Given the description of an element on the screen output the (x, y) to click on. 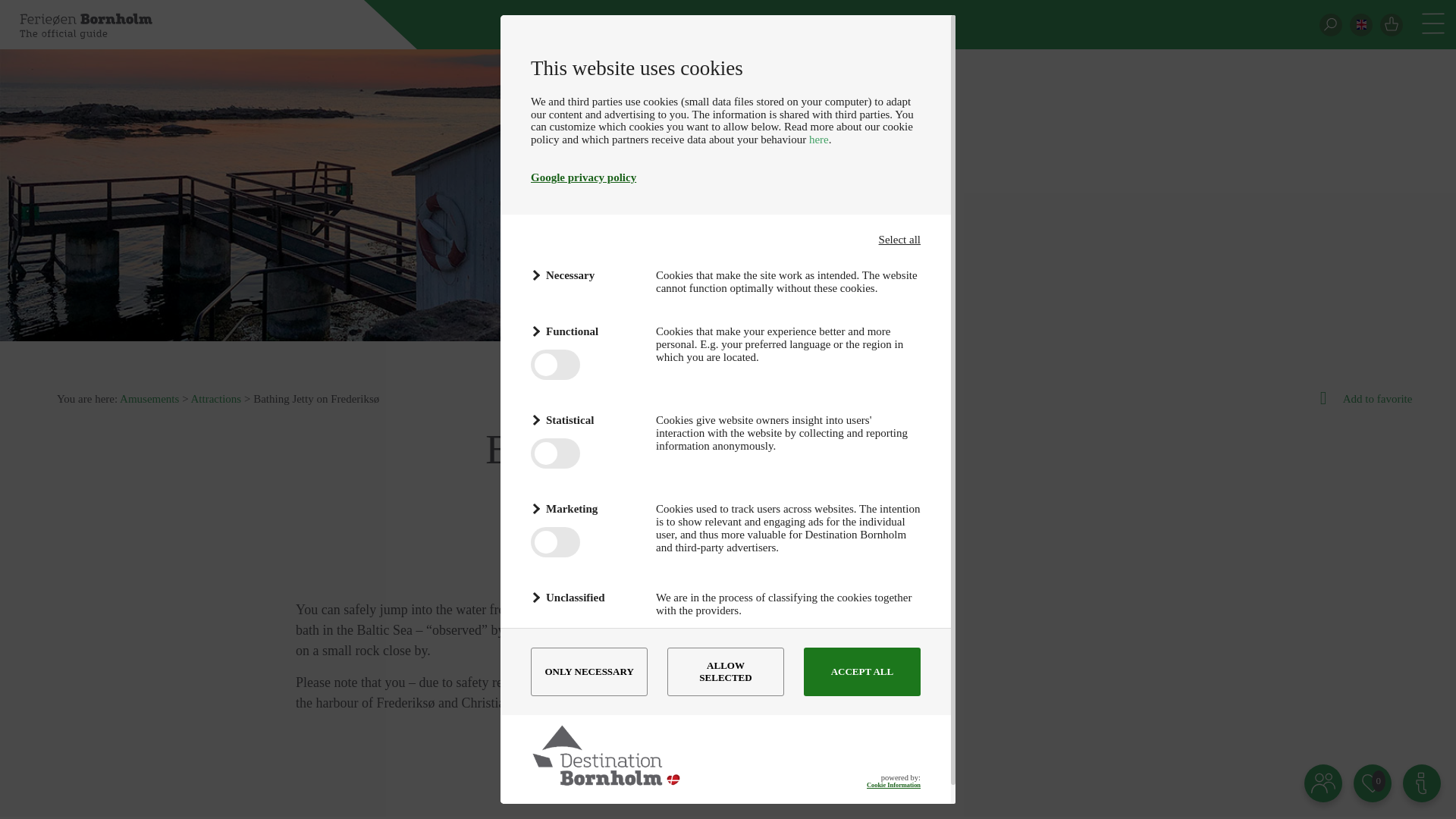
Functional (584, 331)
Necessary (584, 275)
Google privacy policy (583, 177)
Marketing (584, 508)
Statistical (584, 420)
Select all (899, 239)
here (818, 139)
